Given the description of an element on the screen output the (x, y) to click on. 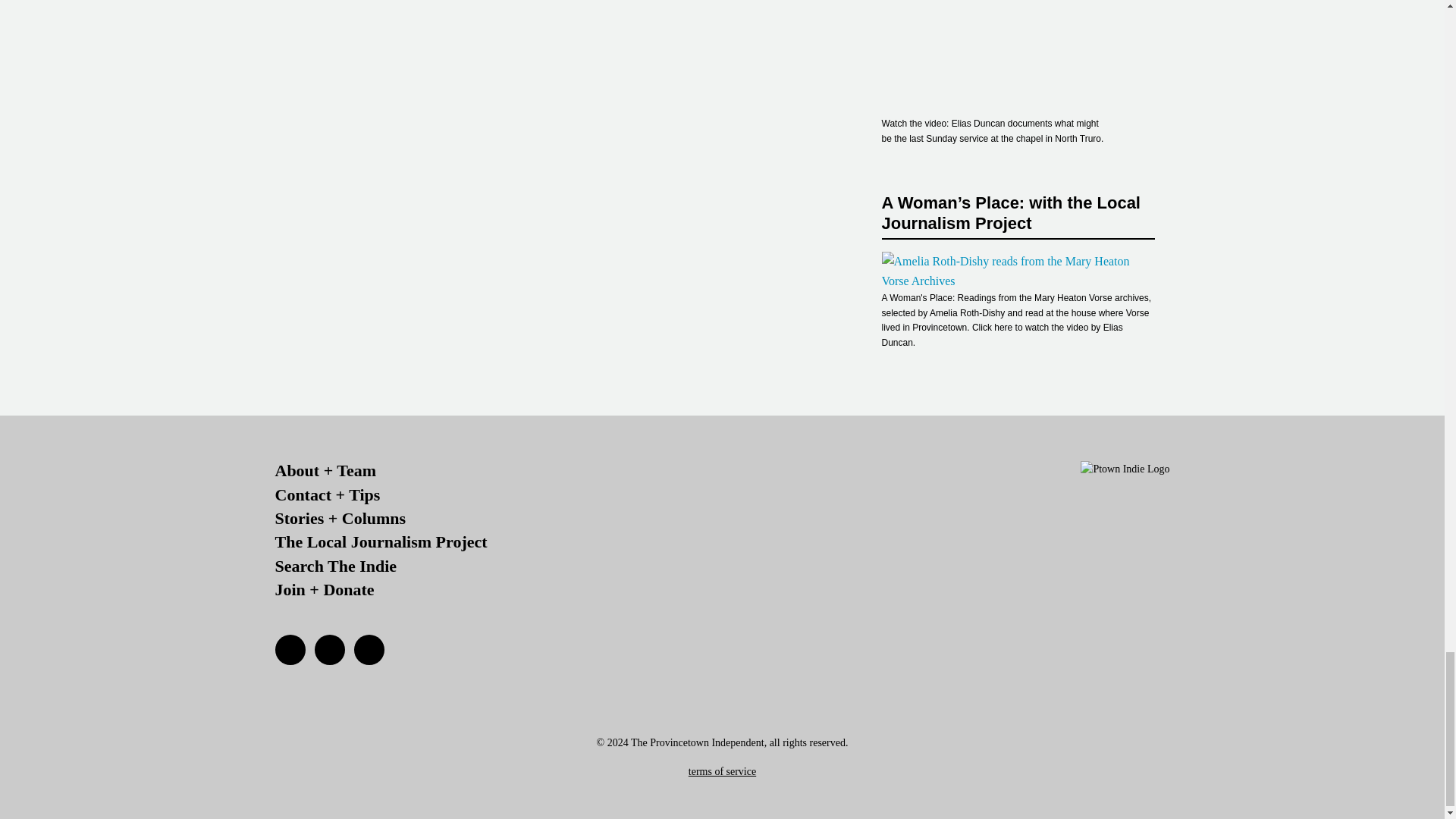
A Woman's Place: with the Local Journalism Project (1017, 271)
